Given the description of an element on the screen output the (x, y) to click on. 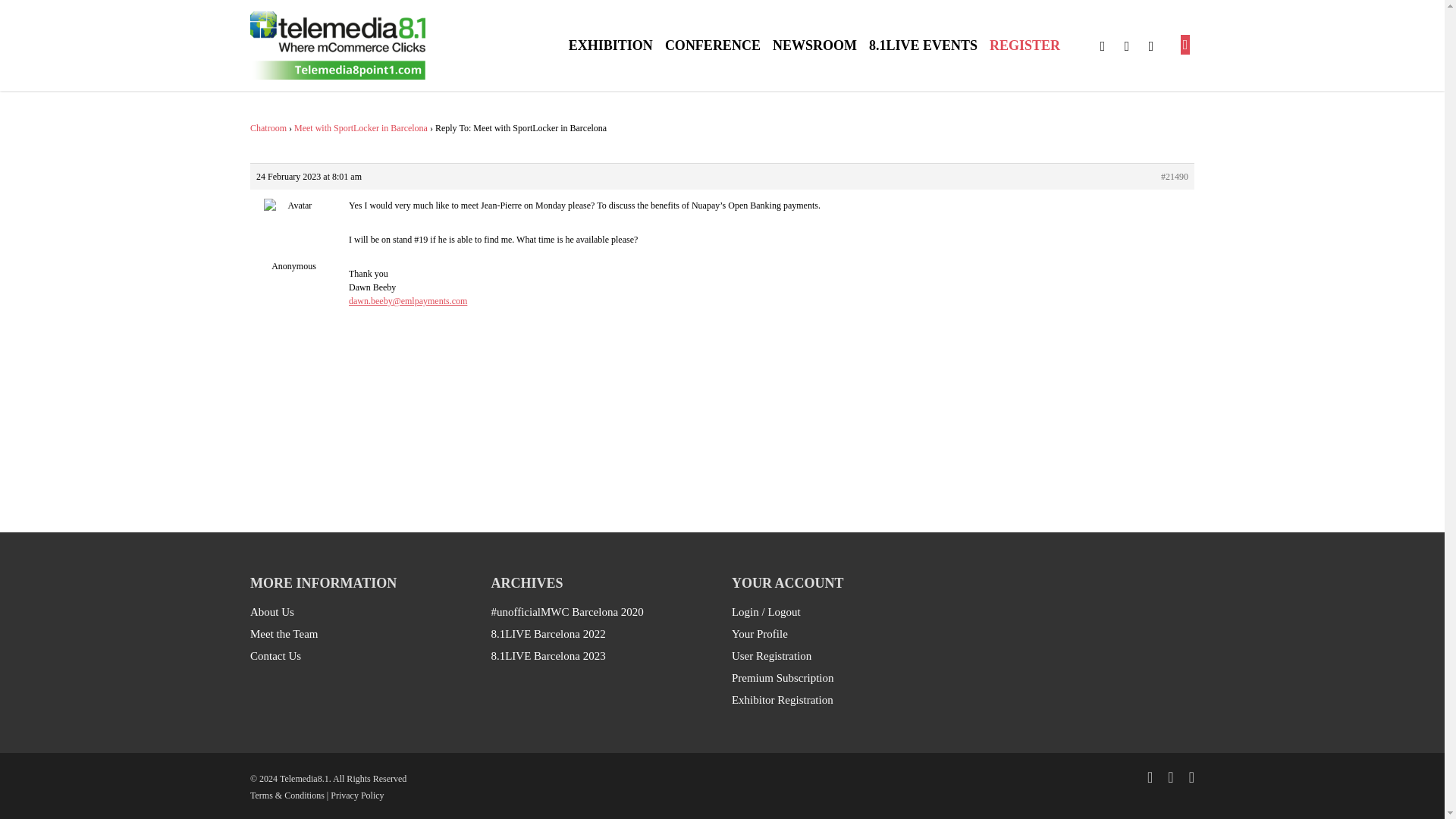
account (1184, 45)
Chatroom (268, 127)
REGISTER (1024, 45)
You are not logged in. Click to log in or register (1184, 45)
EXHIBITION (610, 45)
8.1LIVE EVENTS (922, 45)
FACEBOOK (1126, 45)
CONFERENCE (712, 45)
NEWSROOM (815, 45)
TWITTER (1102, 45)
LINKEDIN (1150, 45)
